Given the description of an element on the screen output the (x, y) to click on. 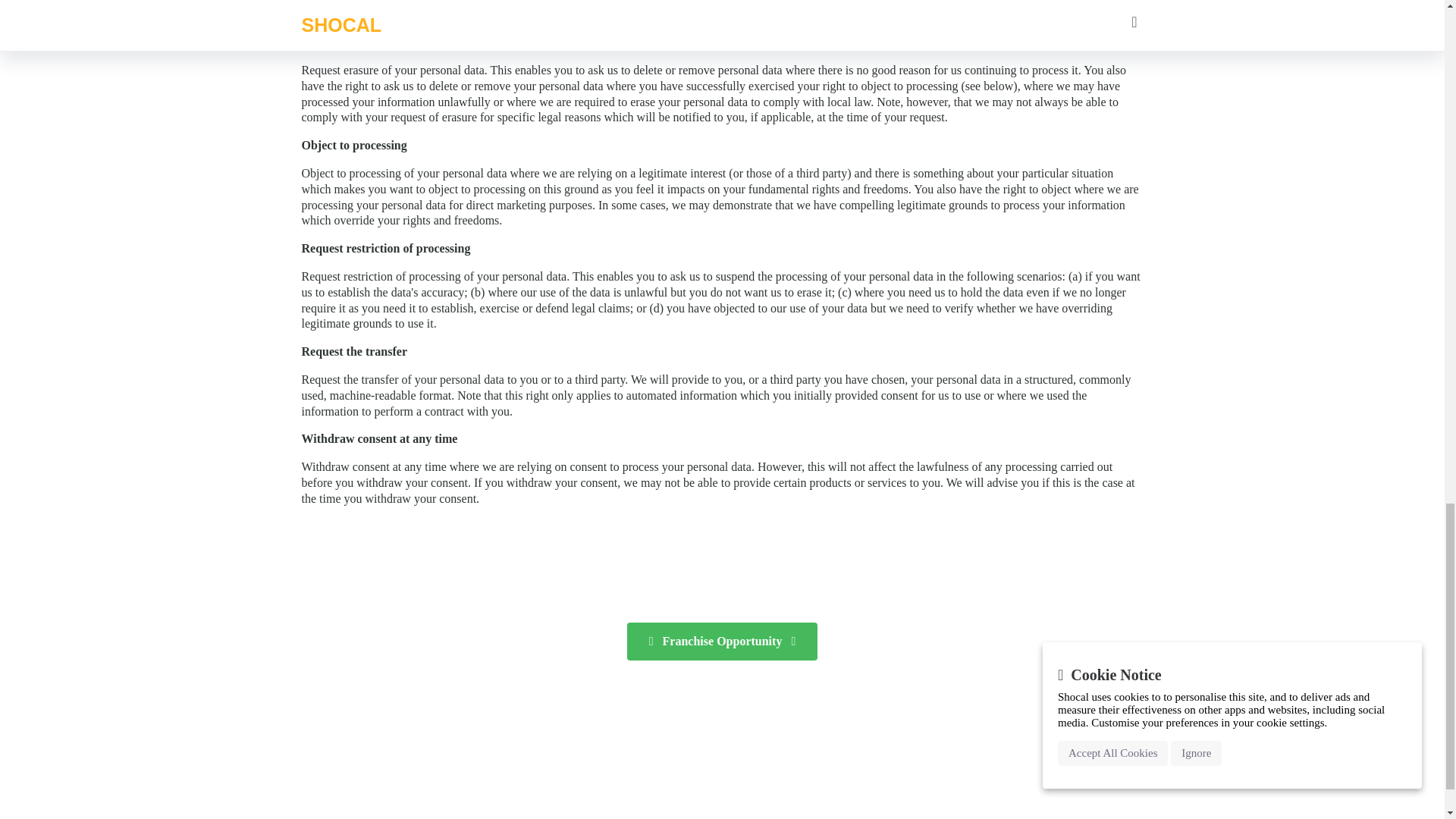
Blogs (326, 759)
Privacy (611, 736)
Sell on Shocal (345, 711)
Recent customer reviews (354, 784)
Become a courier for Shocal (355, 736)
Privacy (612, 759)
Cookies (612, 759)
Privacy (611, 736)
Store blogs (326, 759)
Contact Shocal (338, 688)
